Given the description of an element on the screen output the (x, y) to click on. 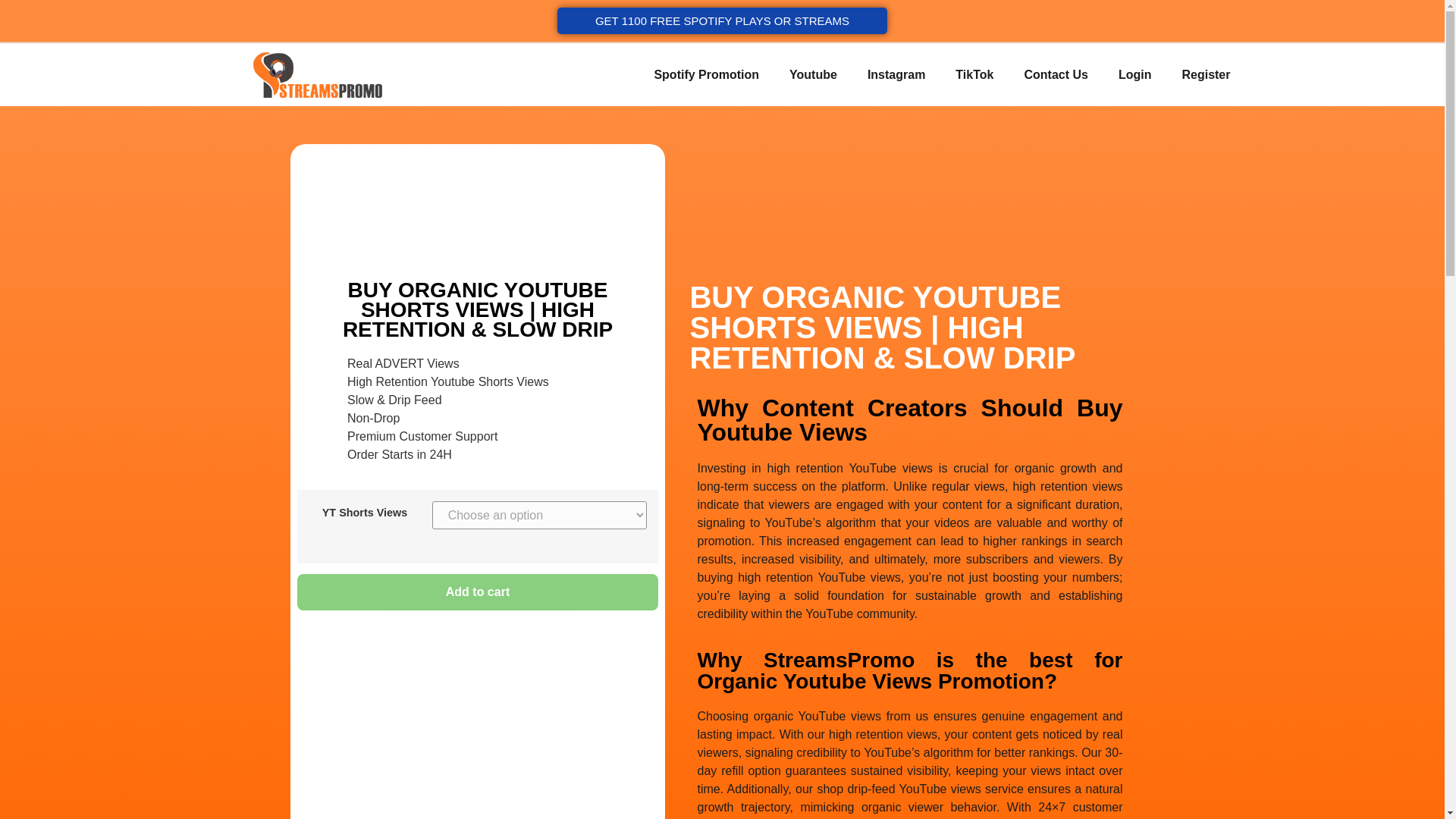
GET 1100 FREE SPOTIFY PLAYS OR STREAMS (721, 20)
Register (1205, 74)
Contact Us (1055, 74)
TikTok (974, 74)
Login (1135, 74)
Youtube (812, 74)
Instagram (895, 74)
Spotify Promotion (706, 74)
